Given the description of an element on the screen output the (x, y) to click on. 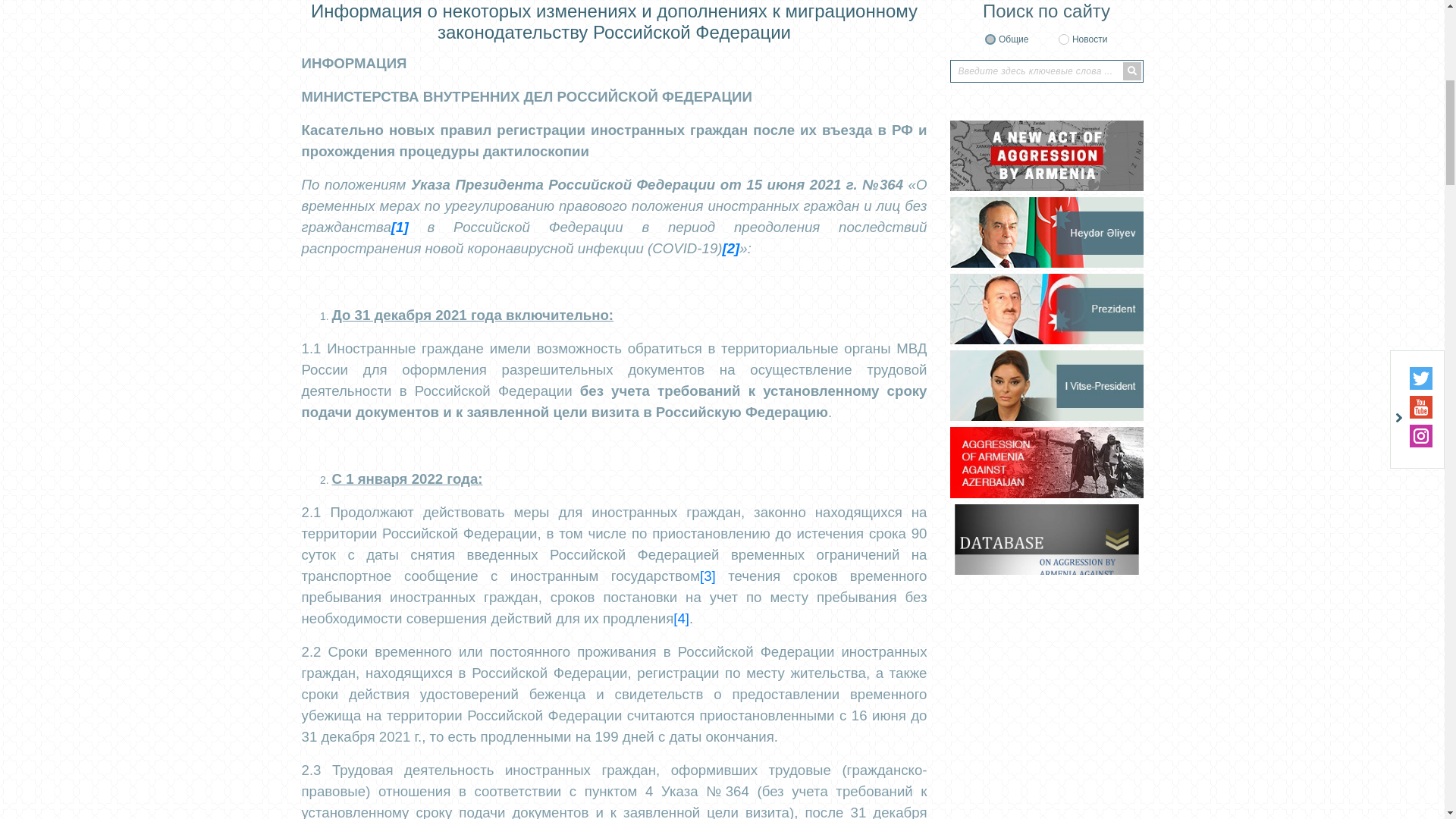
[1] Element type: text (399, 767)
[2] Element type: text (730, 789)
RU Element type: text (1131, 103)
AZ Element type: text (1108, 103)
